Given the description of an element on the screen output the (x, y) to click on. 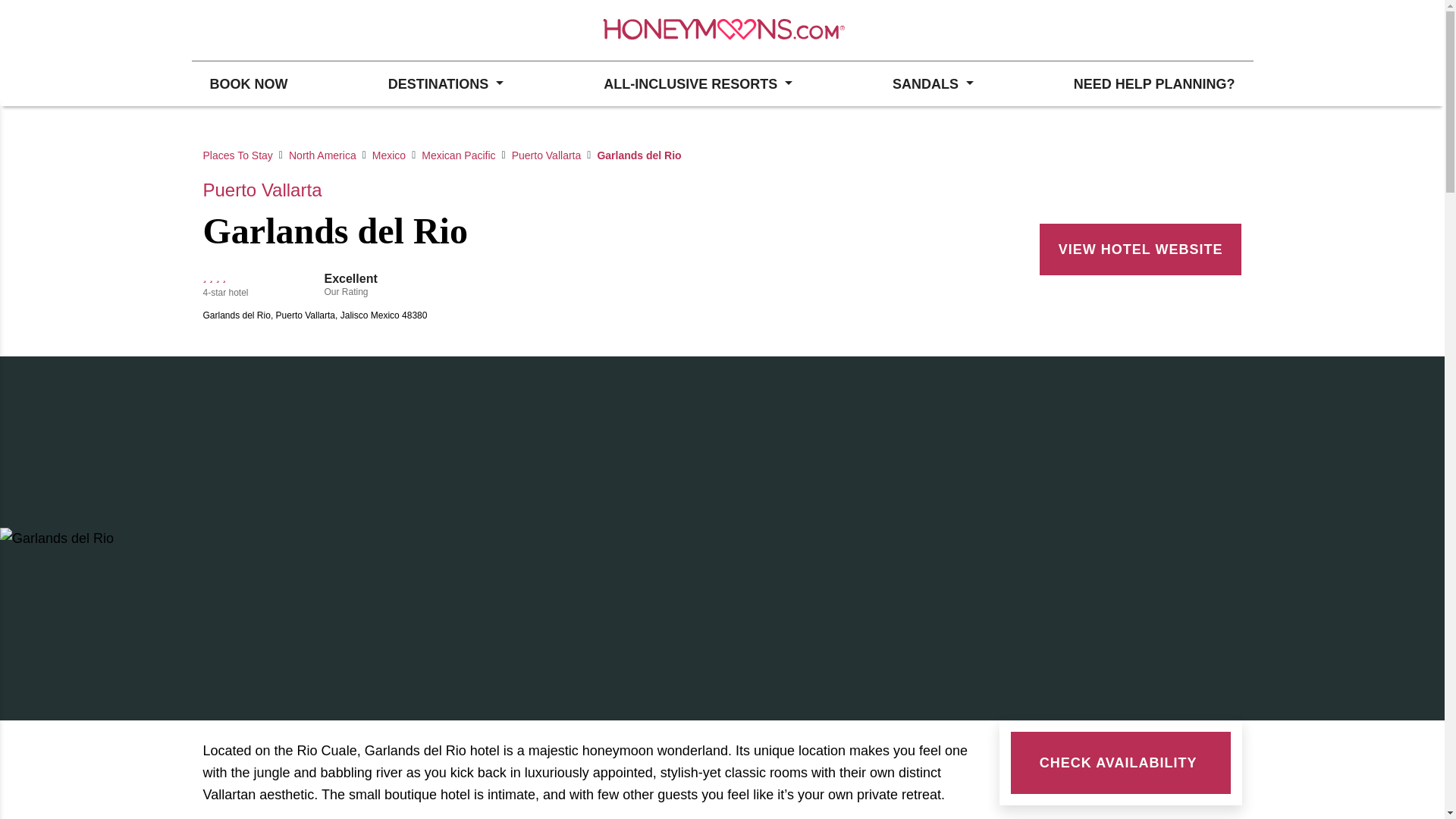
BOOK NOW (247, 84)
ALL-INCLUSIVE RESORTS (698, 84)
DESTINATIONS (445, 84)
